Given the description of an element on the screen output the (x, y) to click on. 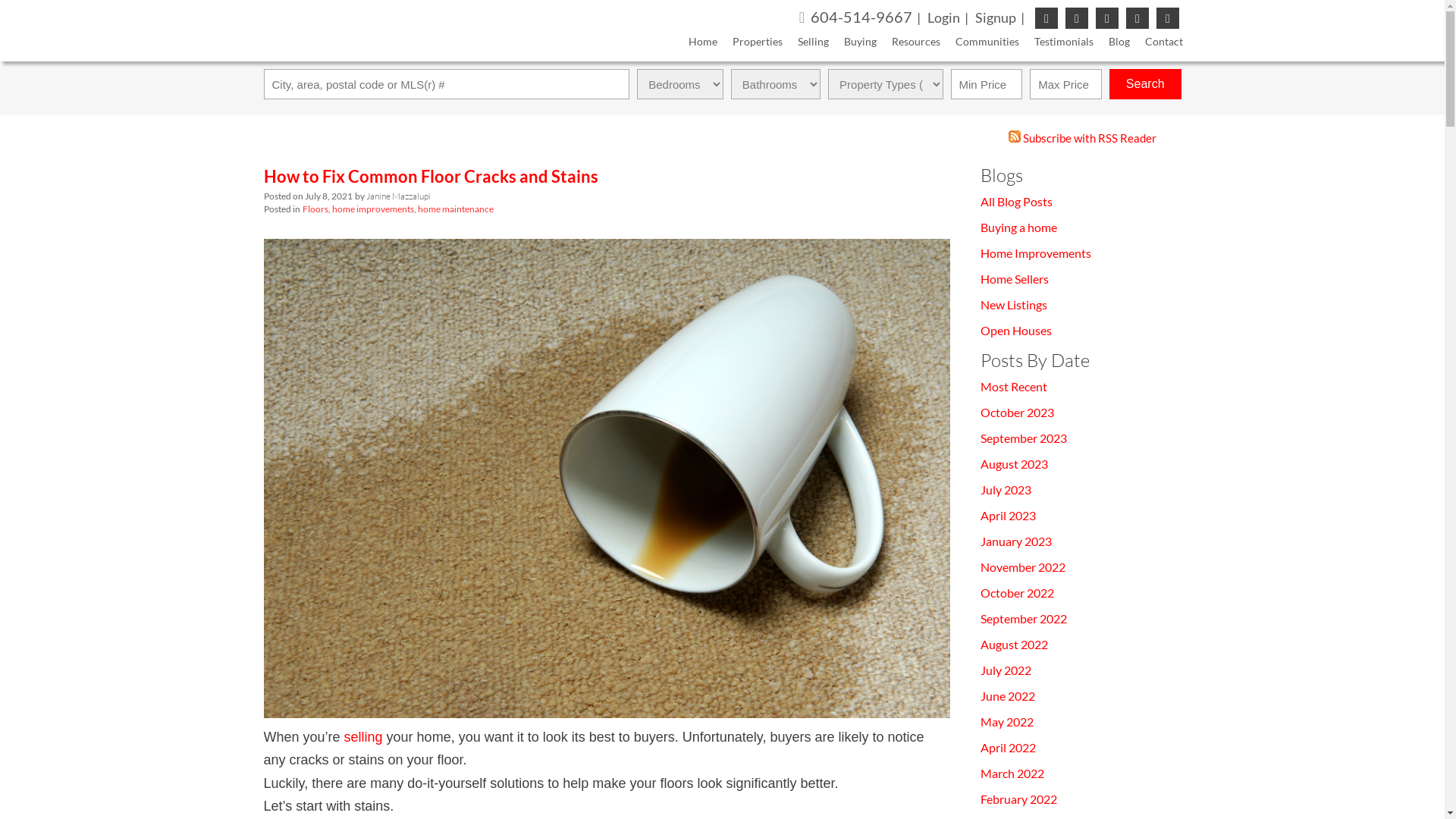
Properties Element type: text (749, 43)
New Listings Element type: text (1012, 304)
August 2022 Element type: text (1013, 644)
home maintenance Element type: text (454, 208)
October 2023 Element type: text (1016, 411)
January 2023 Element type: text (1015, 540)
June 2022 Element type: text (1006, 695)
Search Element type: text (1145, 84)
Home Sellers Element type: text (1013, 278)
March 2022 Element type: text (1011, 772)
Login Element type: text (949, 17)
Subscribe with RSS Reader Element type: text (1082, 137)
August 2023 Element type: text (1013, 463)
Buying Element type: text (852, 43)
May 2022 Element type: text (1005, 721)
July 2023 Element type: text (1004, 489)
Open Houses Element type: text (1015, 330)
September 2022 Element type: text (1022, 618)
selling Element type: text (363, 736)
November 2022 Element type: text (1021, 566)
All Blog Posts Element type: text (1015, 201)
September 2023 Element type: text (1022, 437)
home improvements Element type: text (373, 208)
July 2022 Element type: text (1004, 669)
Most Recent Element type: text (1012, 386)
April 2022 Element type: text (1007, 747)
October 2022 Element type: text (1016, 592)
Buying a home Element type: text (1017, 226)
Testimonials Element type: text (1056, 43)
604-514-9667 Element type: text (862, 17)
Resources Element type: text (908, 43)
Home Improvements Element type: text (1034, 252)
Blog Element type: text (1111, 43)
April 2023 Element type: text (1007, 515)
Selling Element type: text (805, 43)
Communities Element type: text (979, 43)
Home Element type: text (695, 43)
Signup Element type: text (1002, 17)
Floors Element type: text (314, 208)
Contact Element type: text (1156, 43)
February 2022 Element type: text (1017, 798)
